Given the description of an element on the screen output the (x, y) to click on. 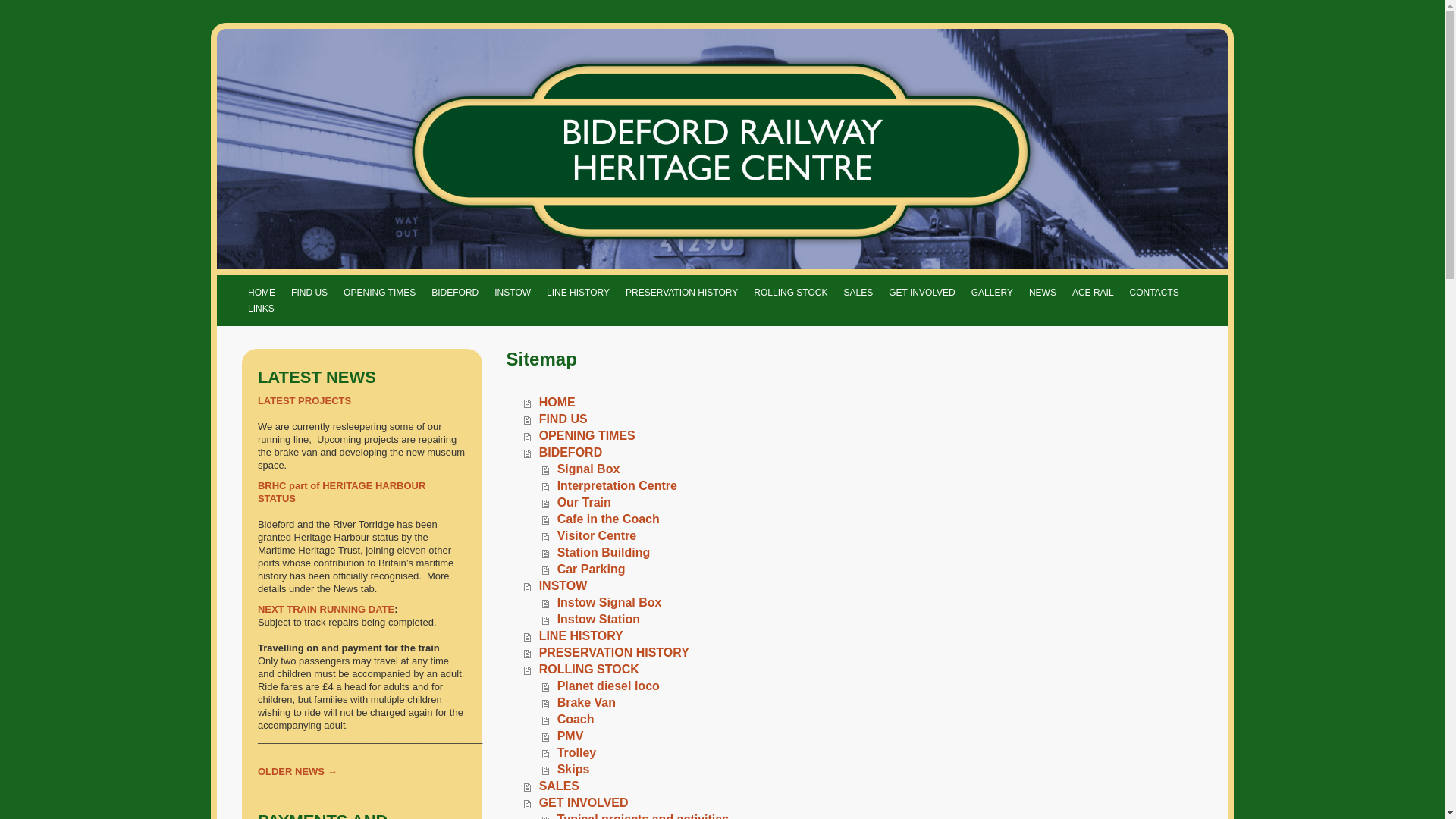
NEWS (1042, 292)
Cafe in the Coach (871, 519)
OPENING TIMES (379, 292)
Instow Station (871, 619)
SALES (863, 786)
Trolley (871, 752)
ACE RAIL (1092, 292)
CONTACTS (1154, 292)
LINE HISTORY (577, 292)
Signal Box (871, 469)
